Given the description of an element on the screen output the (x, y) to click on. 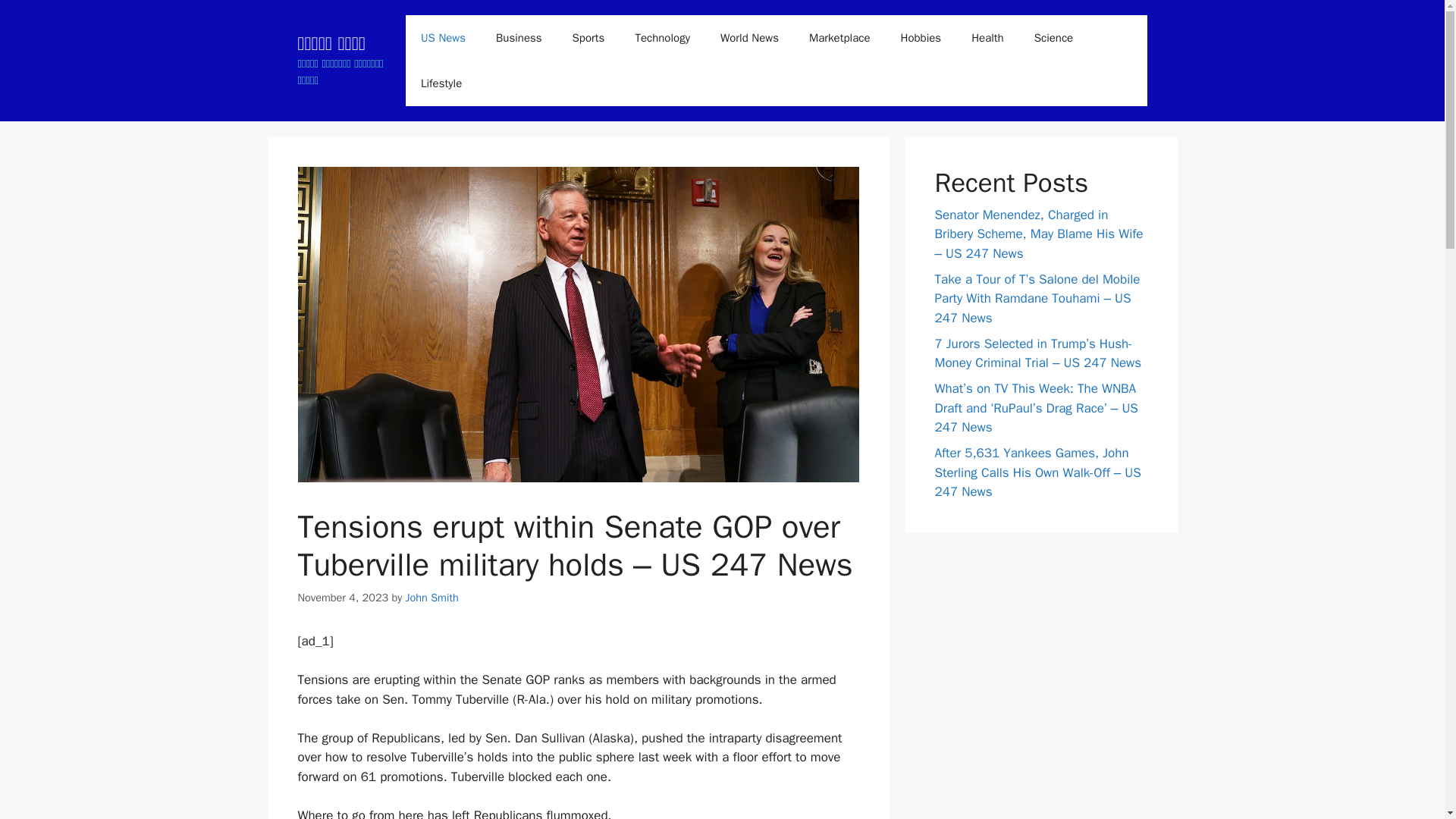
Technology (662, 37)
US News (443, 37)
John Smith (432, 597)
Science (1054, 37)
Business (518, 37)
Hobbies (920, 37)
Health (987, 37)
Lifestyle (441, 83)
Sports (588, 37)
Marketplace (839, 37)
World News (748, 37)
View all posts by John Smith (432, 597)
